Given the description of an element on the screen output the (x, y) to click on. 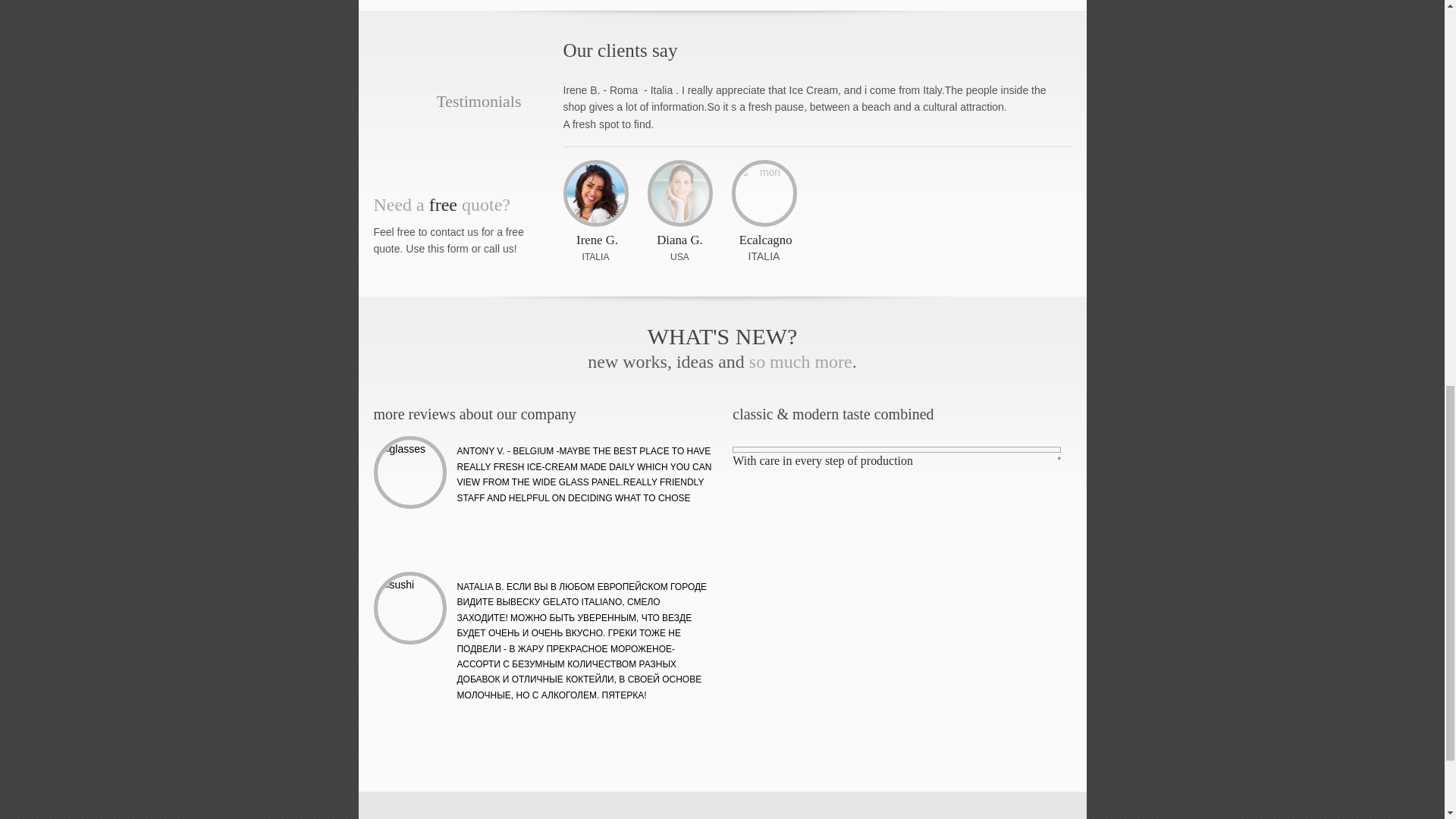
mergot (595, 192)
With care in every step of production (822, 460)
SA (682, 256)
sushi (409, 607)
meis (678, 192)
glasses (409, 472)
ITALIA (596, 256)
A fresh and nice blog layout: do u like it? (584, 470)
mori (764, 192)
